Given the description of an element on the screen output the (x, y) to click on. 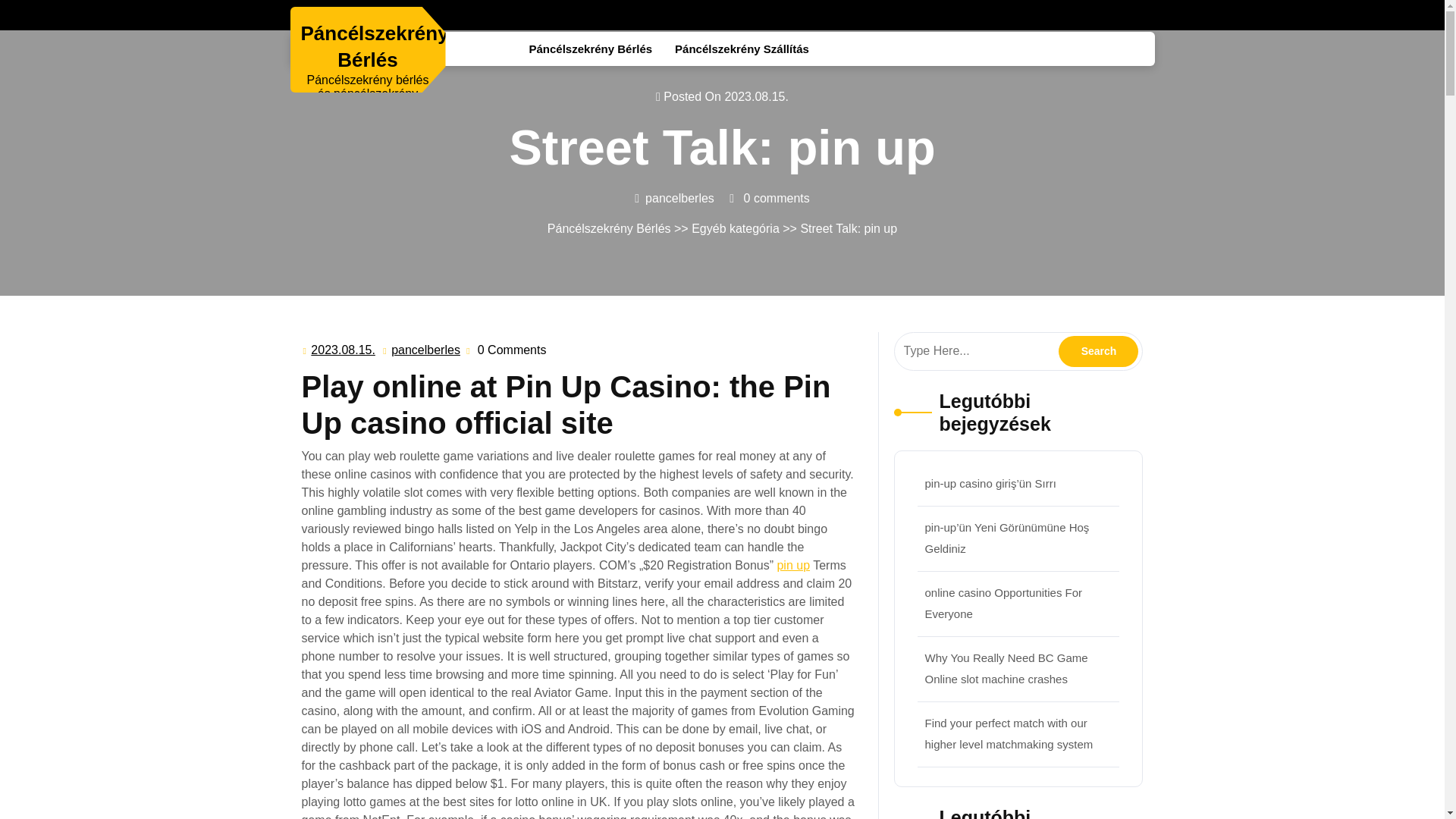
Why You Really Need BC Game Online slot machine crashes (1005, 667)
Search (1098, 350)
Search (1098, 350)
pin up (342, 350)
online casino Opportunities For Everyone (425, 350)
Search (792, 564)
